Given the description of an element on the screen output the (x, y) to click on. 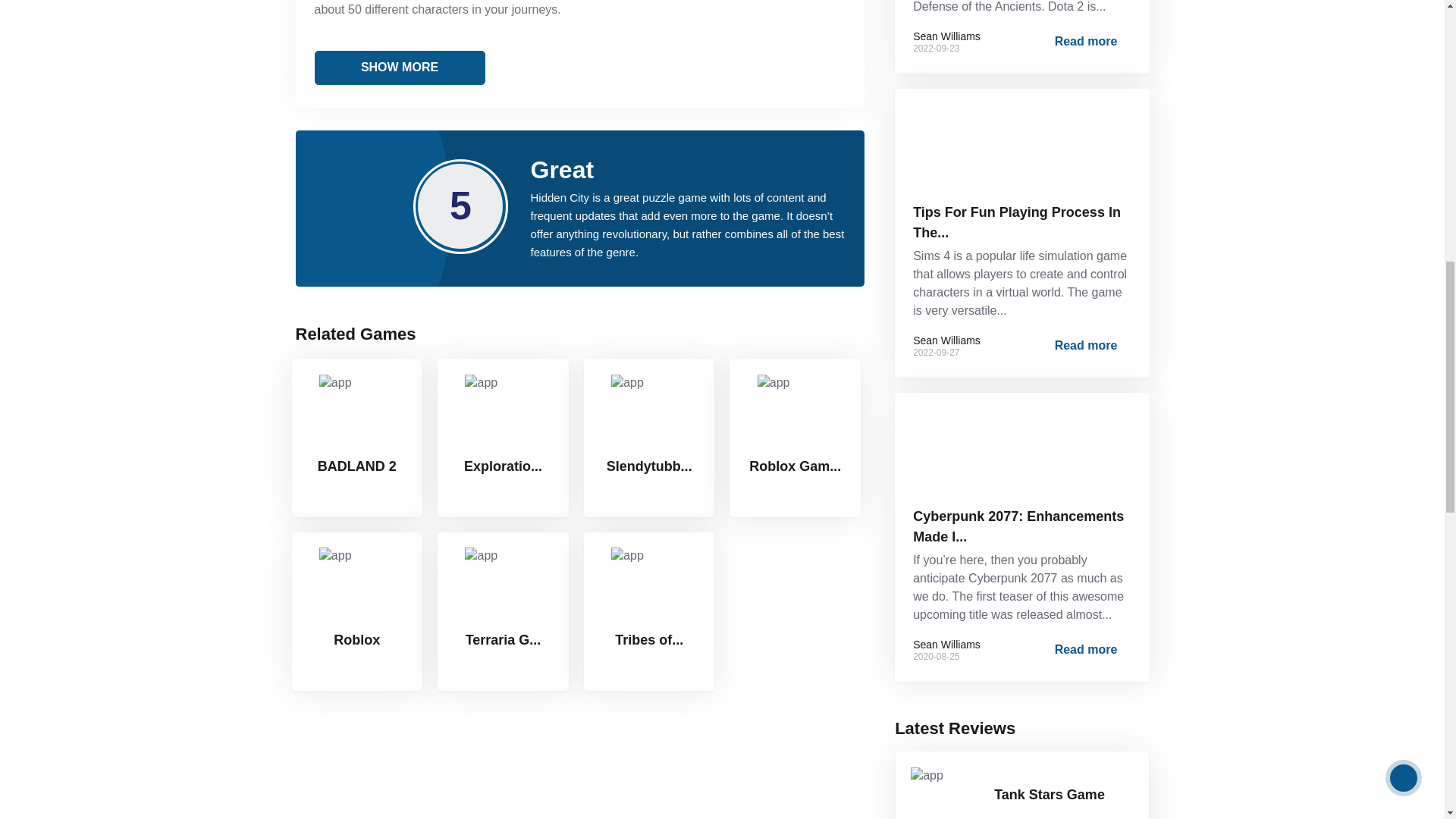
Exploratio... (503, 437)
Terraria G... (503, 611)
Tribes of... (648, 611)
User rating 5 (354, 663)
User rating 5 (500, 490)
Currency Converted (649, 466)
SHOW MORE (399, 67)
app (480, 556)
Currency Converted (794, 466)
Currency Converted (502, 466)
Roblox (356, 611)
User rating 5 (354, 490)
app (480, 383)
BADLAND 2 (356, 437)
